Given the description of an element on the screen output the (x, y) to click on. 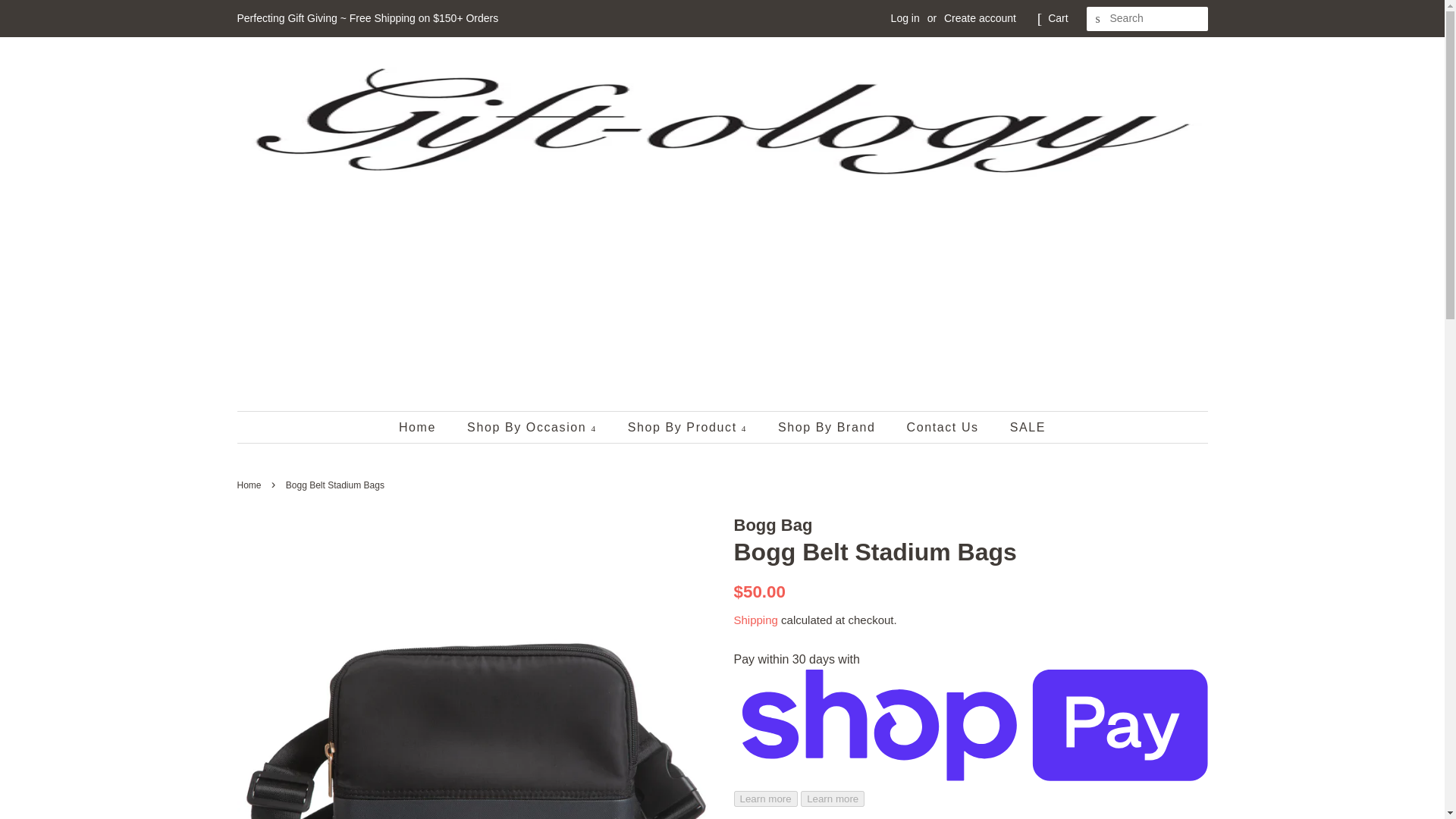
Shop By Product (688, 427)
Create account (979, 18)
Home (424, 427)
Back to the frontpage (249, 484)
Log in (905, 18)
Search (1097, 18)
Shop By Occasion (533, 427)
Cart (1057, 18)
